Given the description of an element on the screen output the (x, y) to click on. 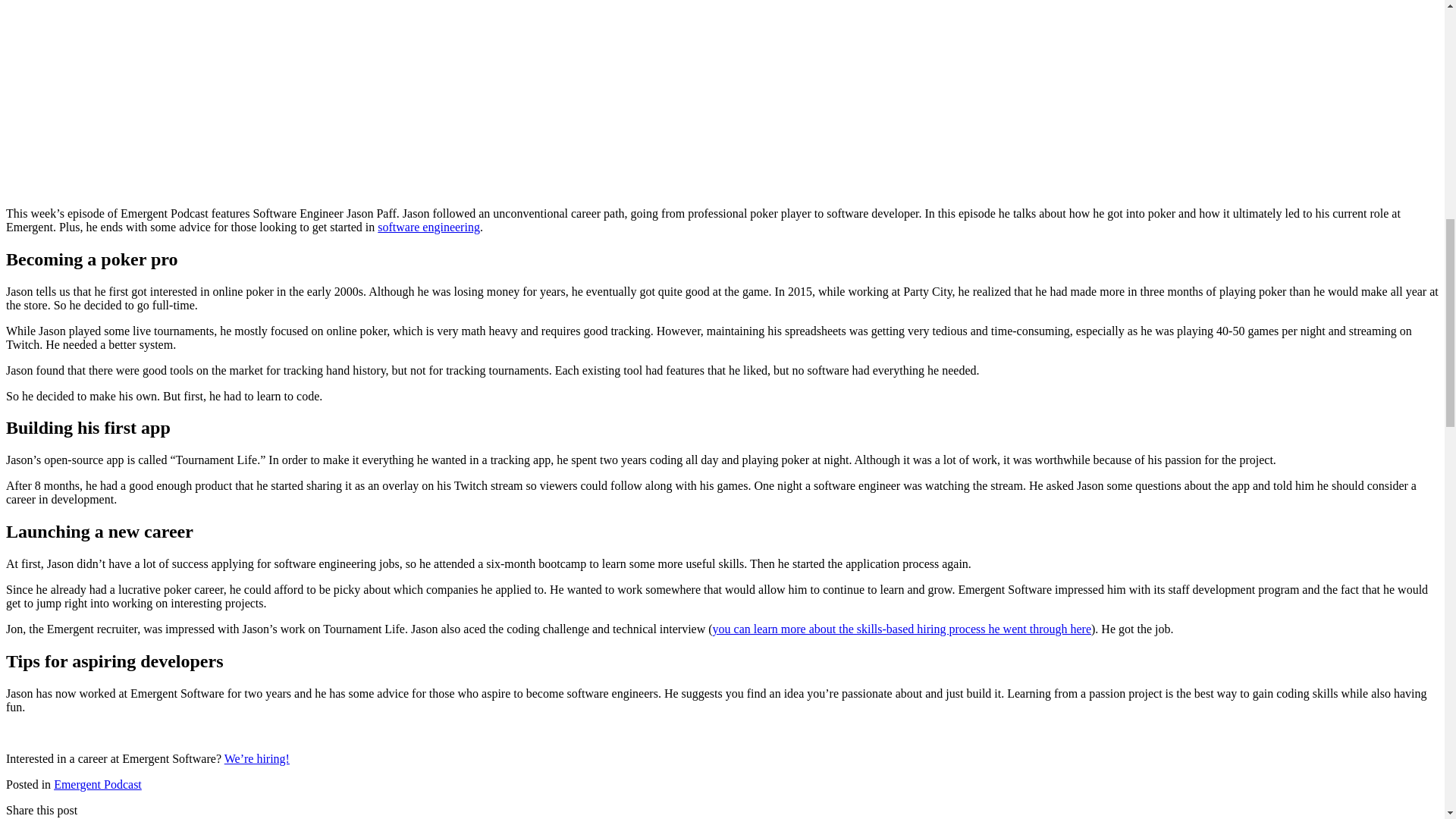
Emergent Podcast (97, 784)
software engineering (428, 226)
